Given the description of an element on the screen output the (x, y) to click on. 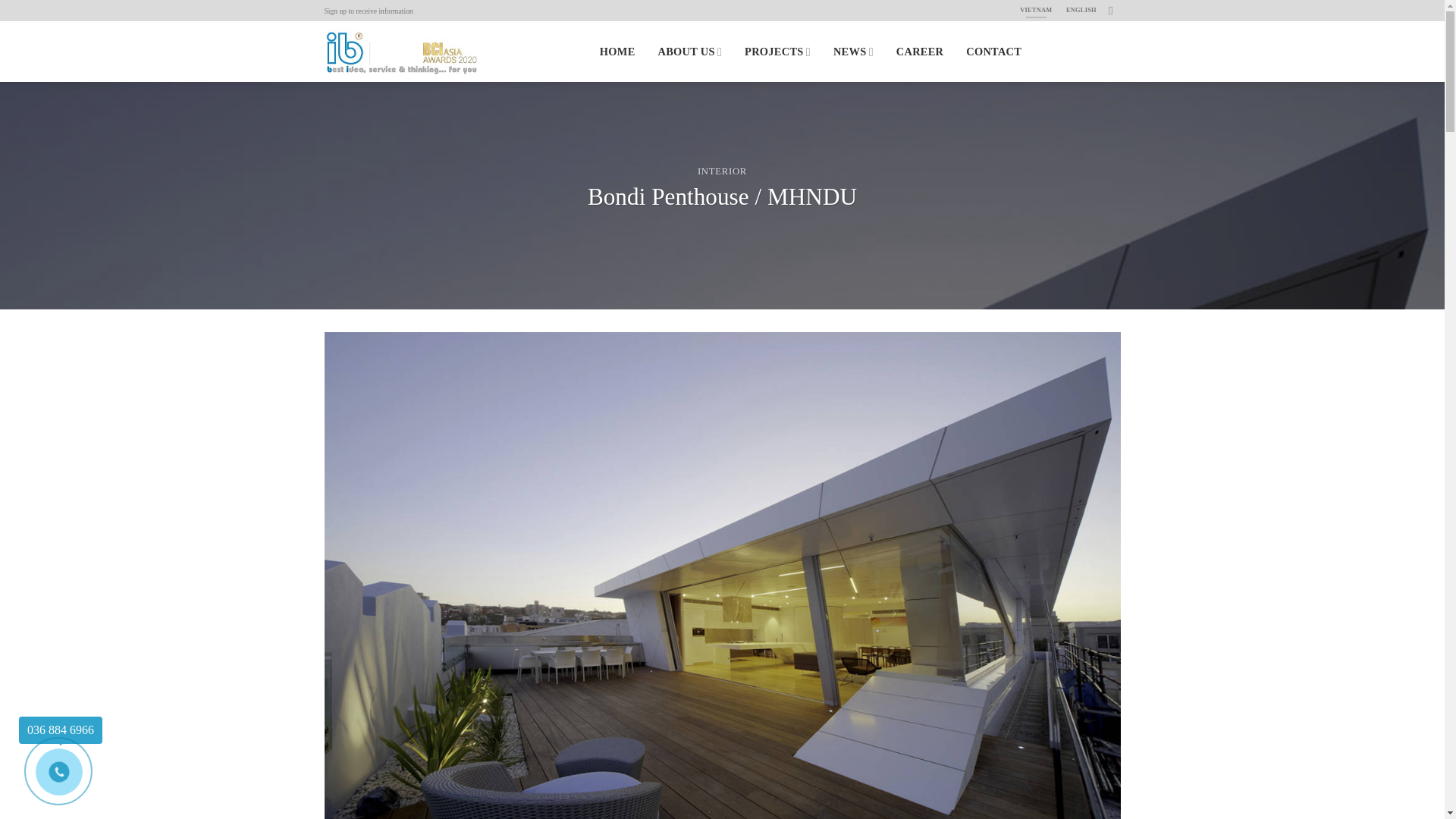
VIETNAM (1035, 10)
Sign up to receive information (368, 10)
ABOUT US (690, 51)
PROJECTS (777, 51)
CAREER (919, 51)
NEWS (852, 51)
HOME (616, 51)
ENGLISH (1080, 10)
